Given the description of an element on the screen output the (x, y) to click on. 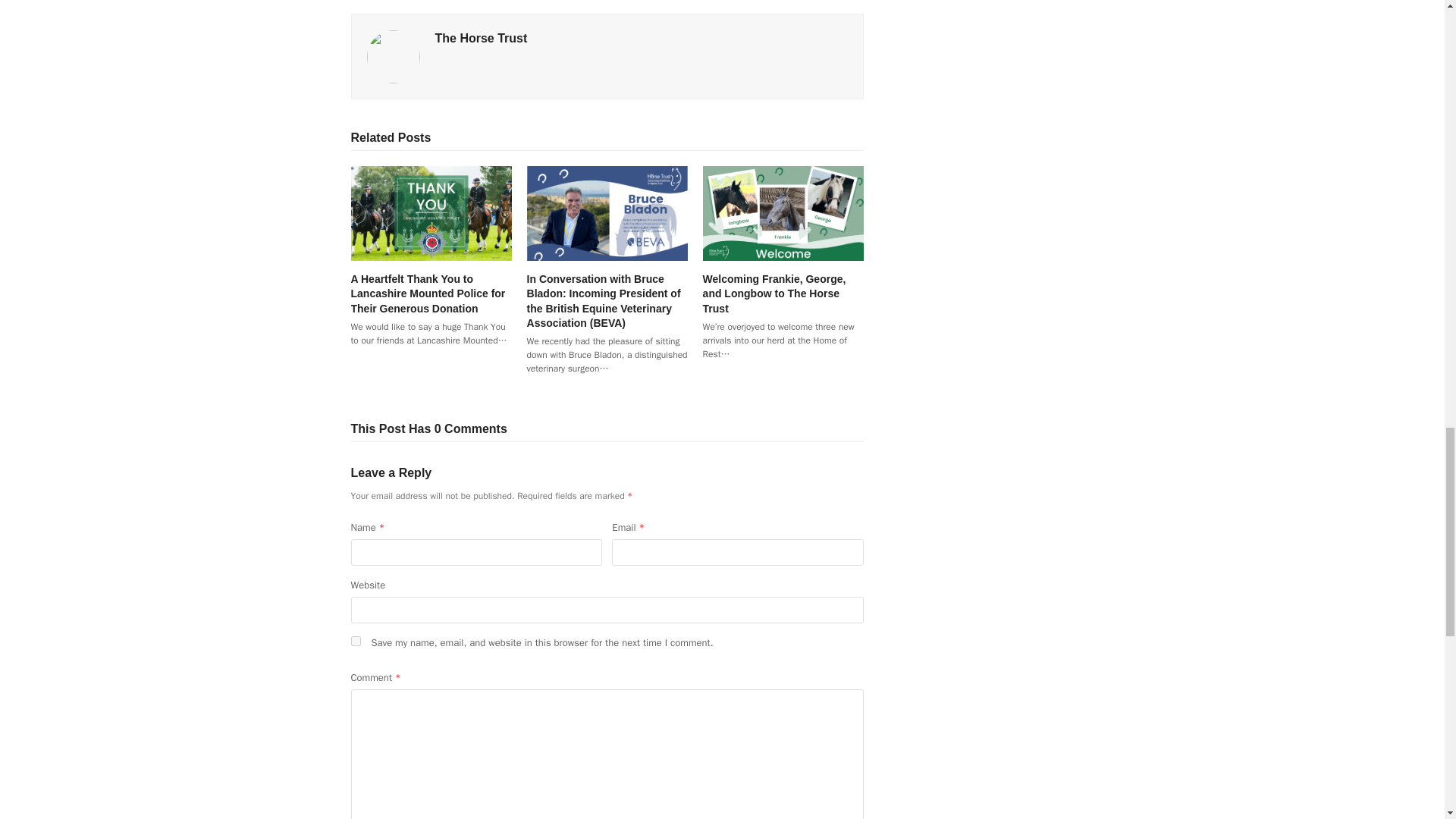
Visit Author Page (481, 38)
Welcoming Frankie, George, and Longbow to The Horse Trust (783, 212)
Visit Author Page (393, 55)
yes (354, 641)
